Given the description of an element on the screen output the (x, y) to click on. 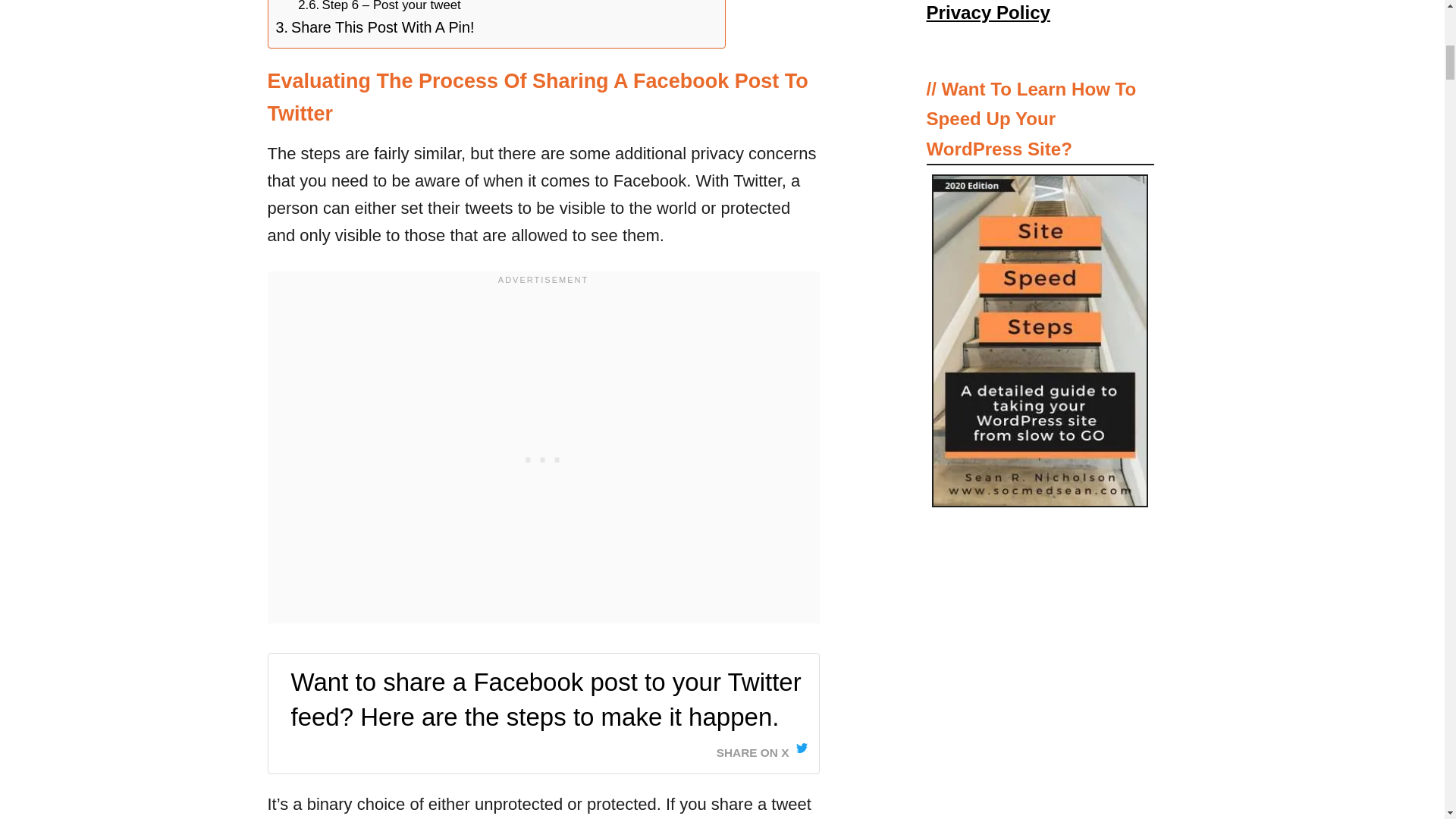
SHARE ON X (762, 748)
Share This Post With A Pin! (375, 27)
Share This Post With A Pin! (375, 27)
